Given the description of an element on the screen output the (x, y) to click on. 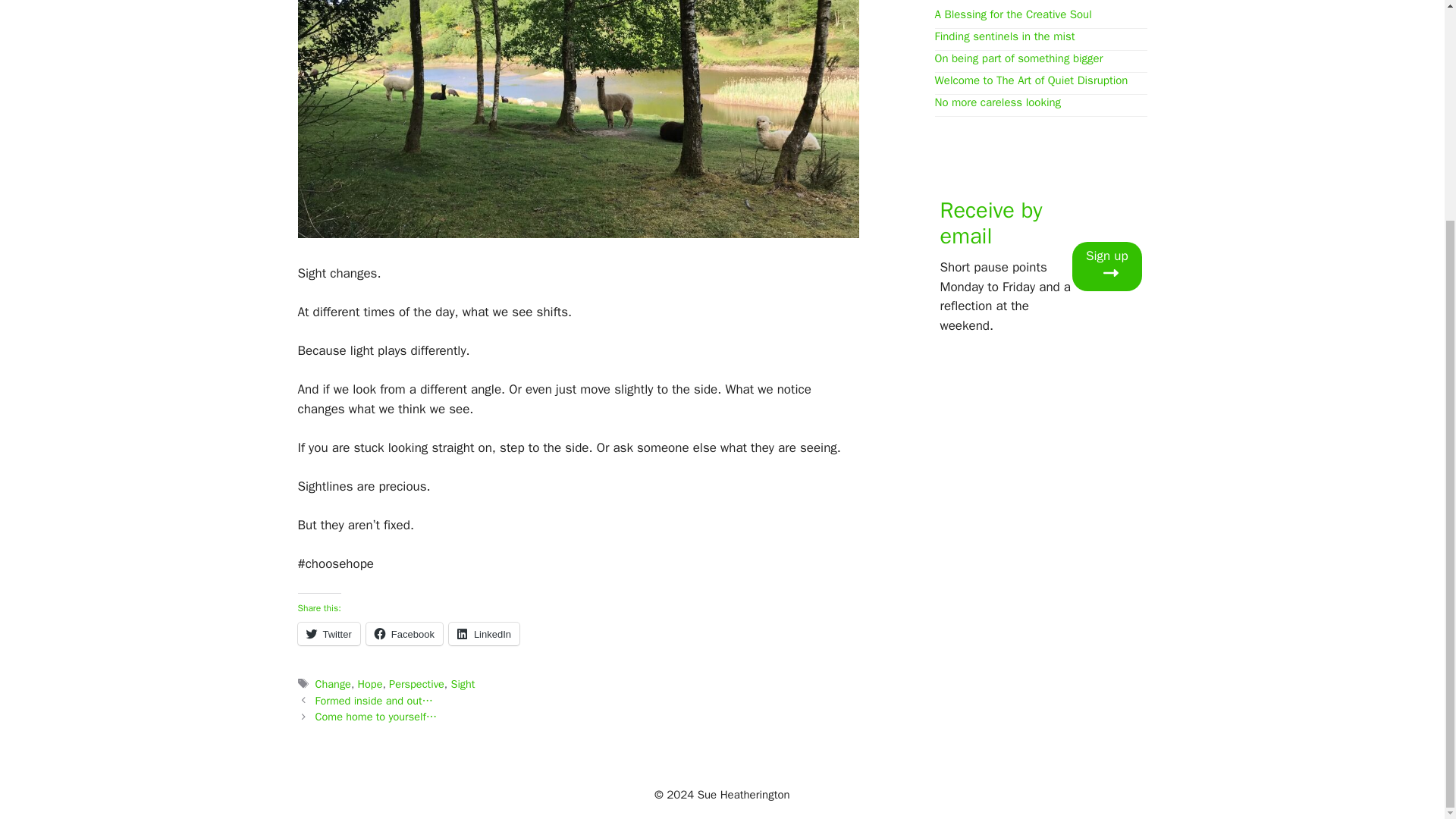
Welcome to The Art of Quiet Disruption (1030, 79)
On being part of something bigger (1018, 57)
A Blessing for the Creative Soul (1012, 13)
Click to share on Twitter (328, 633)
Click to share on Facebook (404, 633)
Facebook (404, 633)
Hope (370, 684)
LinkedIn (483, 633)
Sight (461, 684)
Perspective (416, 684)
Sign up (1106, 266)
Twitter (328, 633)
Click to share on LinkedIn (483, 633)
Change (332, 684)
No more careless looking (997, 101)
